Given the description of an element on the screen output the (x, y) to click on. 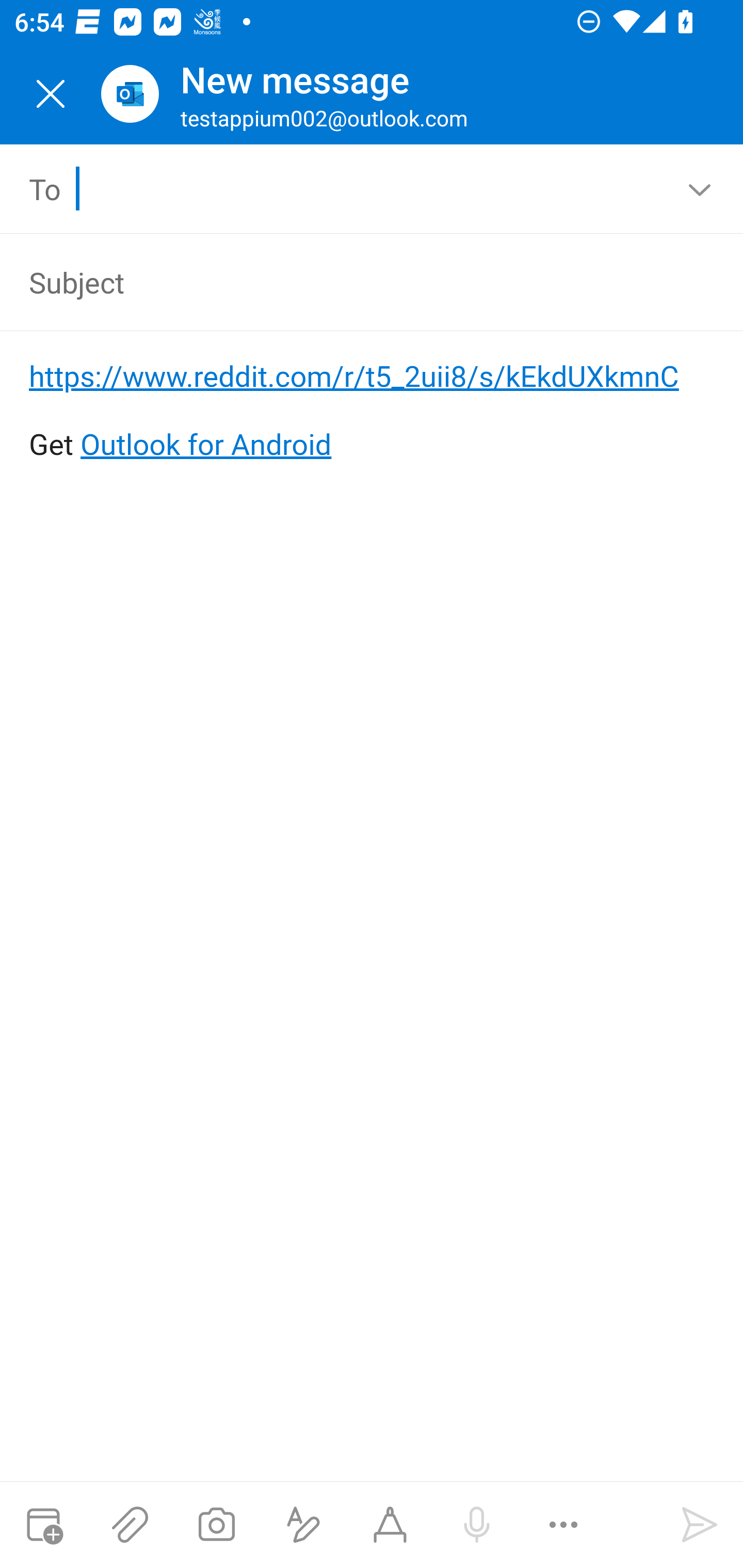
Close (50, 93)
Subject (342, 281)
Attach meeting (43, 1524)
Attach files (129, 1524)
Take a photo (216, 1524)
Show formatting options (303, 1524)
Start Ink compose (389, 1524)
More options (563, 1524)
Send (699, 1524)
